Given the description of an element on the screen output the (x, y) to click on. 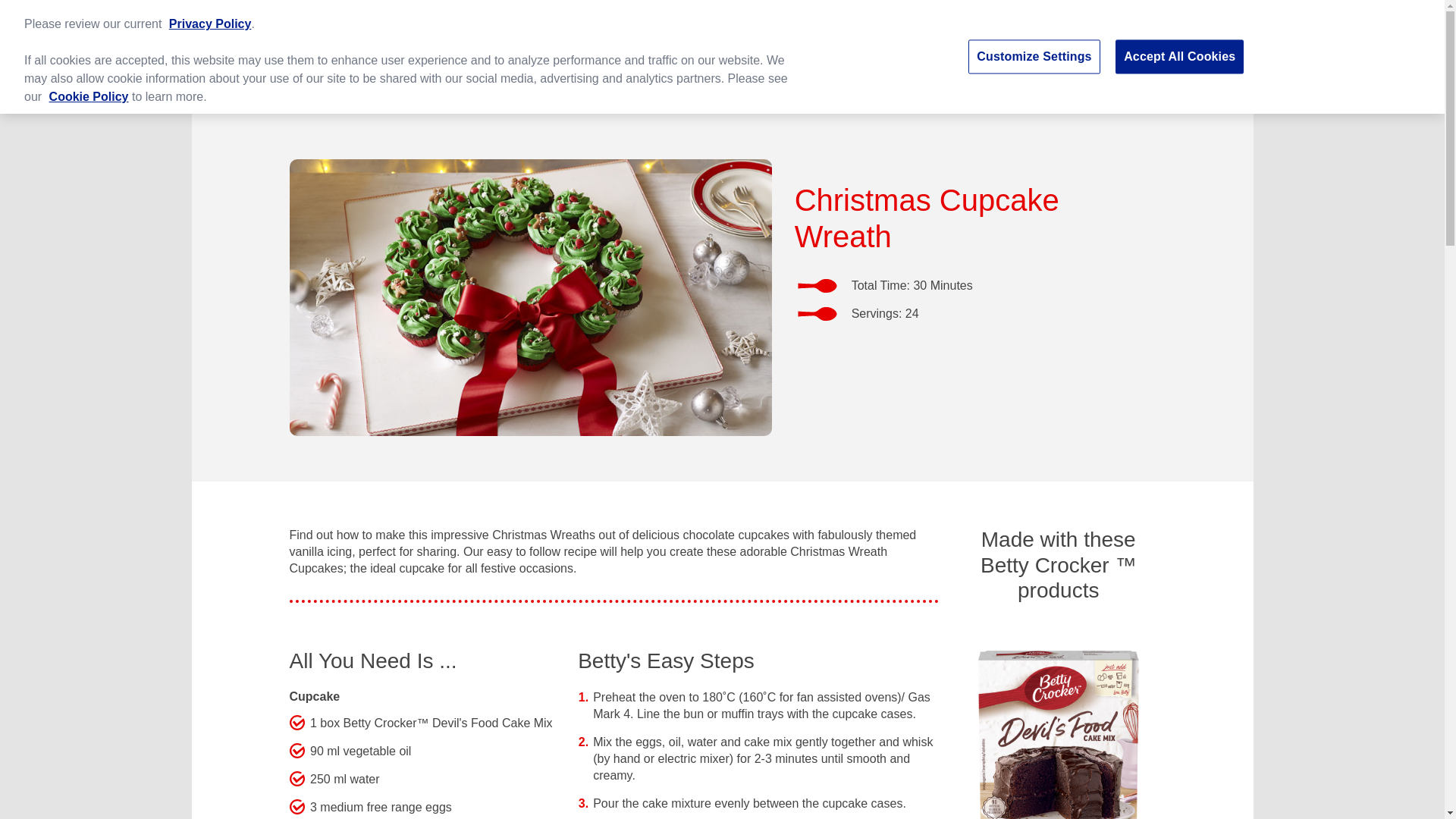
How To (608, 93)
Search (1112, 43)
About Us (320, 93)
Products (517, 93)
Recipes (414, 93)
